Given the description of an element on the screen output the (x, y) to click on. 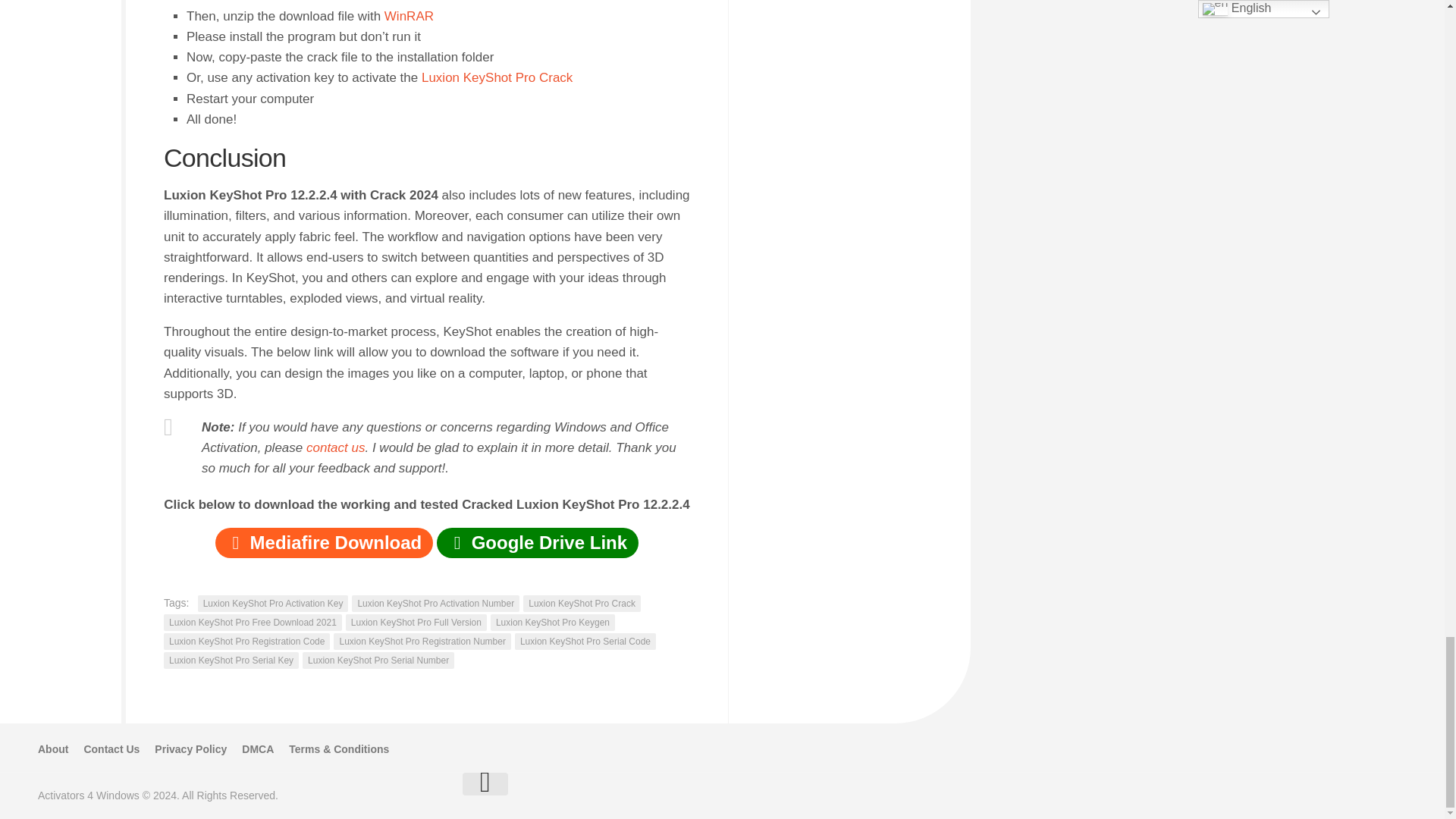
Mediafire Download Google Drive Link (427, 544)
WinRAR (408, 16)
Luxion KeyShot Pro Activation Key (273, 603)
Mediafire Download (323, 542)
contact us (335, 447)
Luxion KeyShot Pro Activation Number (435, 603)
Luxion KeyShot Pro Crack (497, 77)
Luxion KeyShot Pro Crack (581, 603)
Google Drive Link (537, 542)
